Given the description of an element on the screen output the (x, y) to click on. 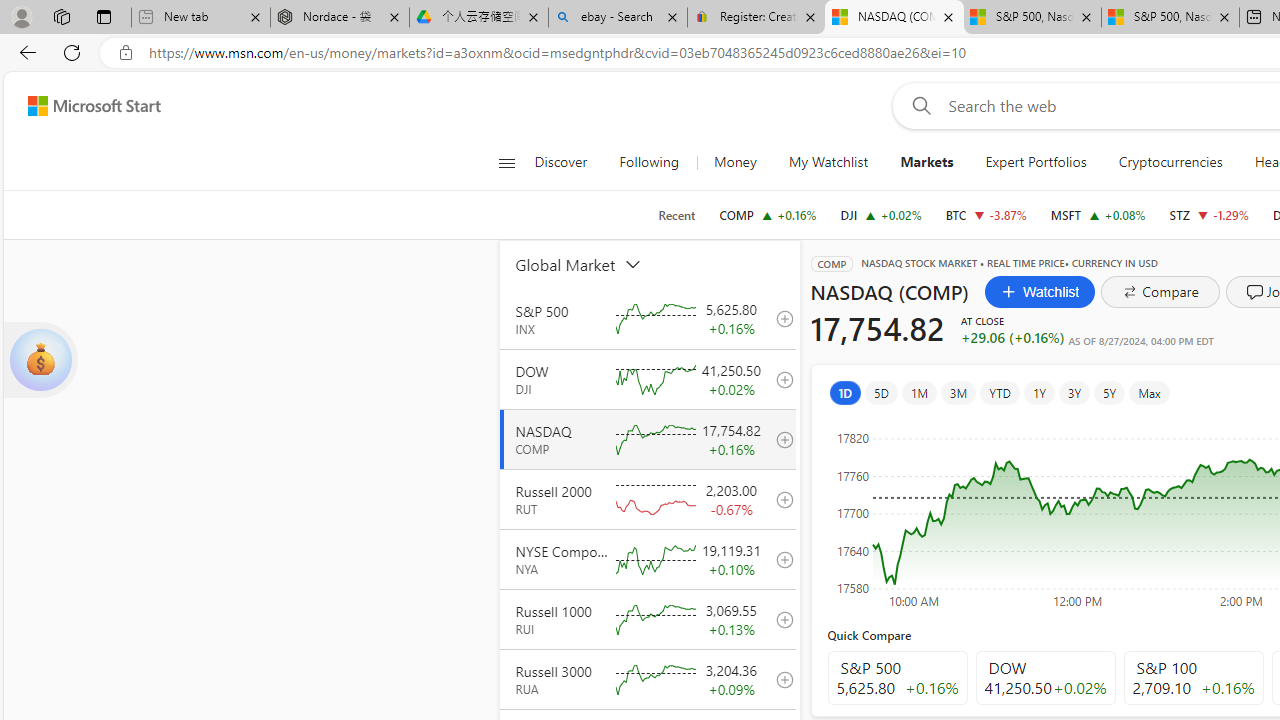
Compare (1159, 291)
Markets (927, 162)
STZ CONSTELLATION BRANDS, INC. decrease 239.98 -3.13 -1.29% (1208, 214)
Watchlist (1039, 291)
add to your watchlist (779, 678)
Open navigation menu (506, 162)
Max (1148, 392)
Web search (917, 105)
Expert Portfolios (1035, 162)
